Given the description of an element on the screen output the (x, y) to click on. 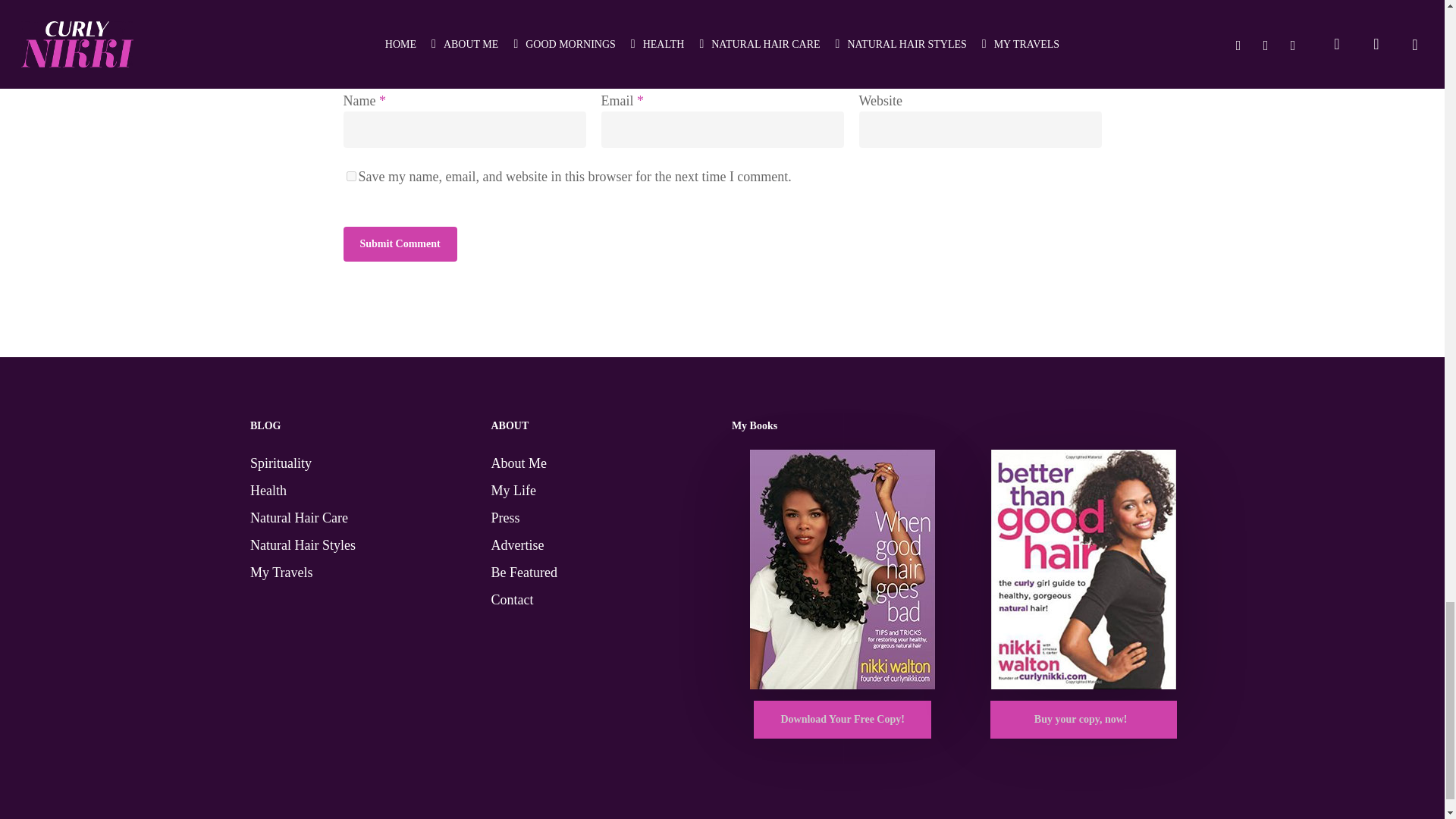
Submit Comment (399, 243)
yes (350, 175)
